Given the description of an element on the screen output the (x, y) to click on. 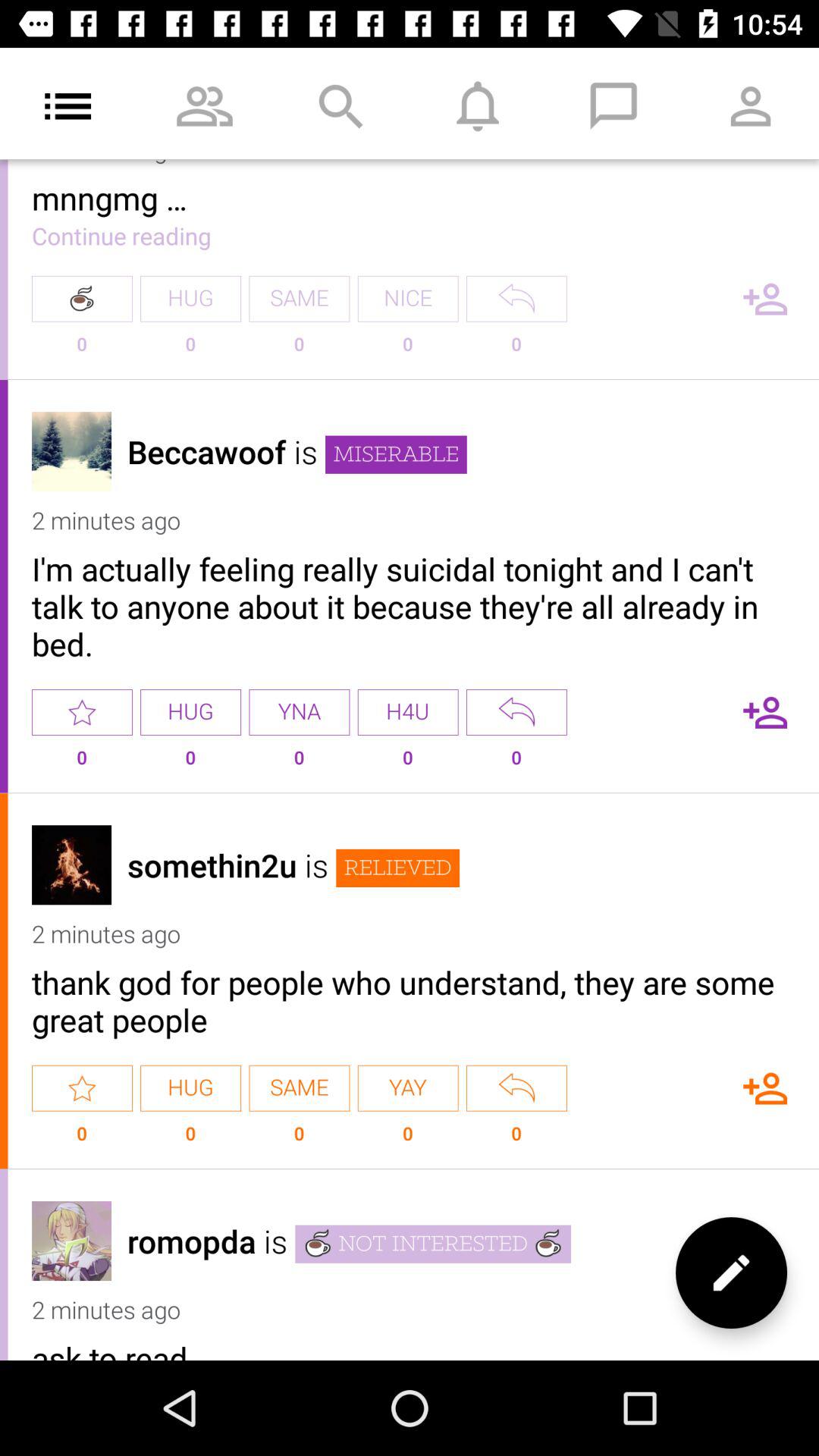
redo (516, 298)
